Given the description of an element on the screen output the (x, y) to click on. 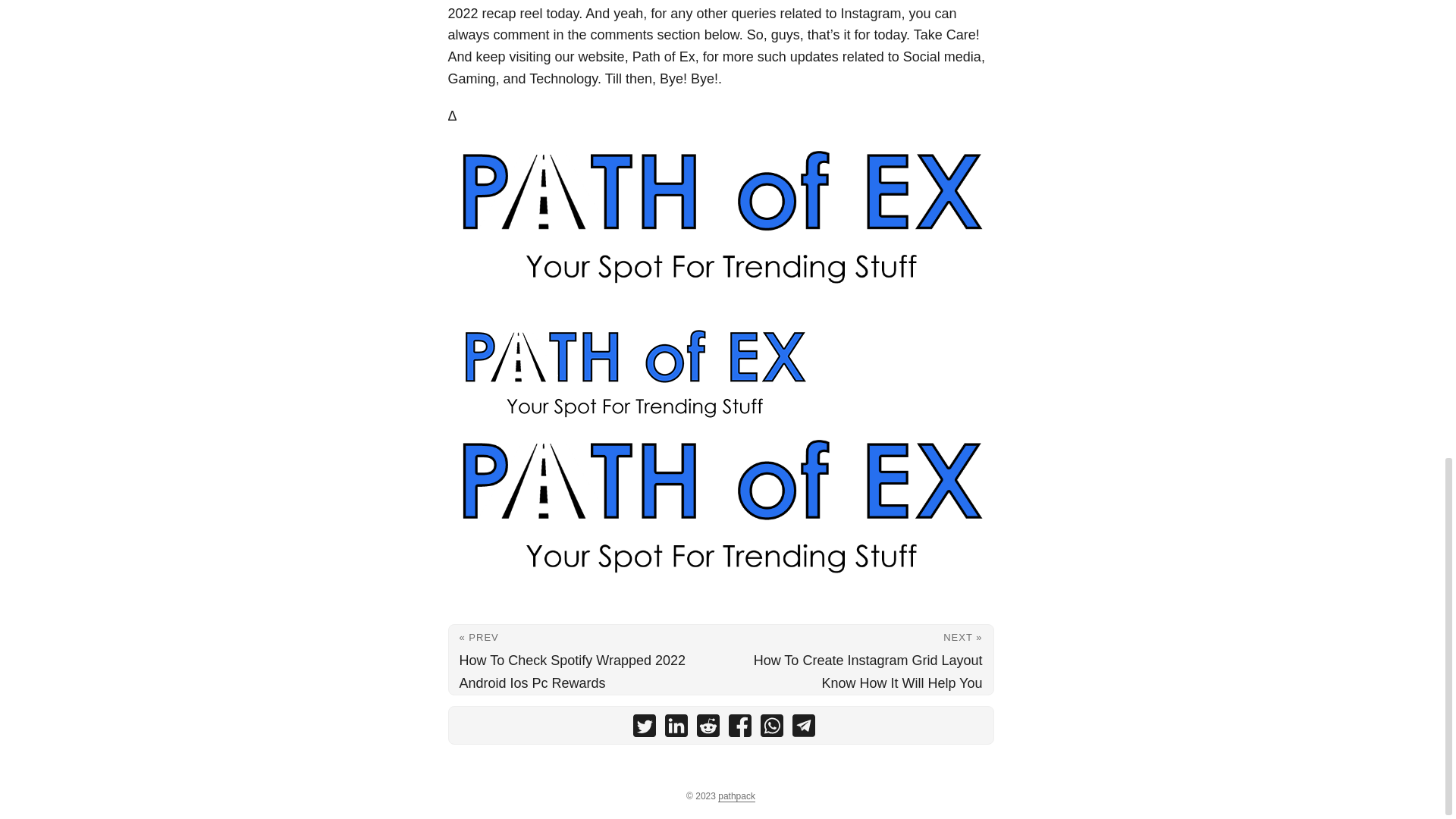
pathpack (736, 796)
